Given the description of an element on the screen output the (x, y) to click on. 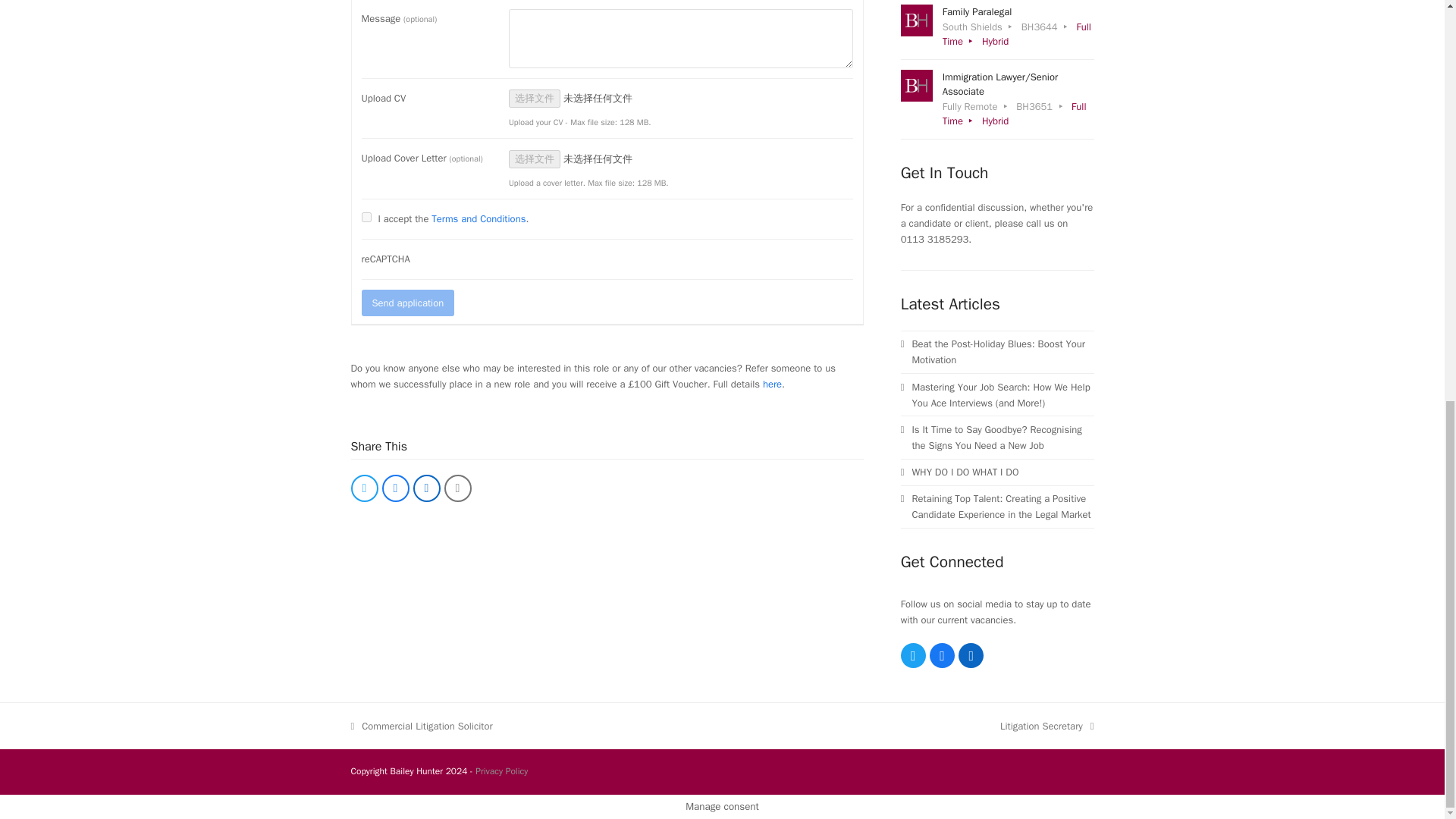
Send application (407, 302)
Share via Email (457, 488)
Terms and Conditions (477, 218)
Facebook (942, 655)
Share on Twitter (363, 488)
Twitter (913, 655)
Share on Facebook (395, 488)
LinkedIn (971, 655)
Send application (407, 302)
